Given the description of an element on the screen output the (x, y) to click on. 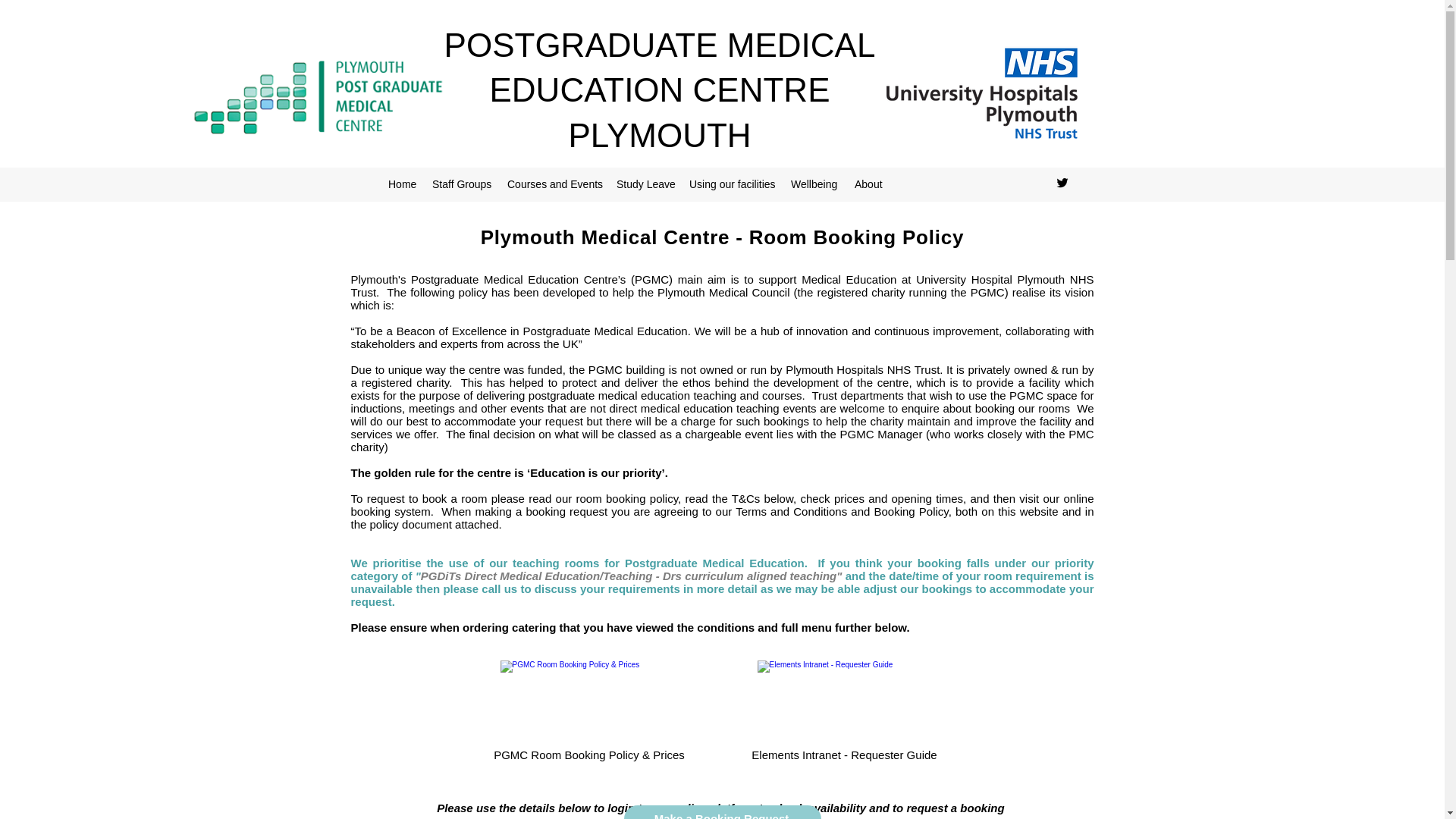
Home (402, 184)
Make a Booking Request (722, 812)
Courses and Events (553, 184)
Study Leave (644, 184)
About (869, 184)
POSTGRADUATE MEDICAL EDUCATION CENTRE PLYMOUTH (660, 89)
Elements Intranet - Requester Guide (845, 713)
Wellbeing (815, 184)
Elements Intranet - Requester Guide (845, 713)
Using our facilities (732, 184)
